Given the description of an element on the screen output the (x, y) to click on. 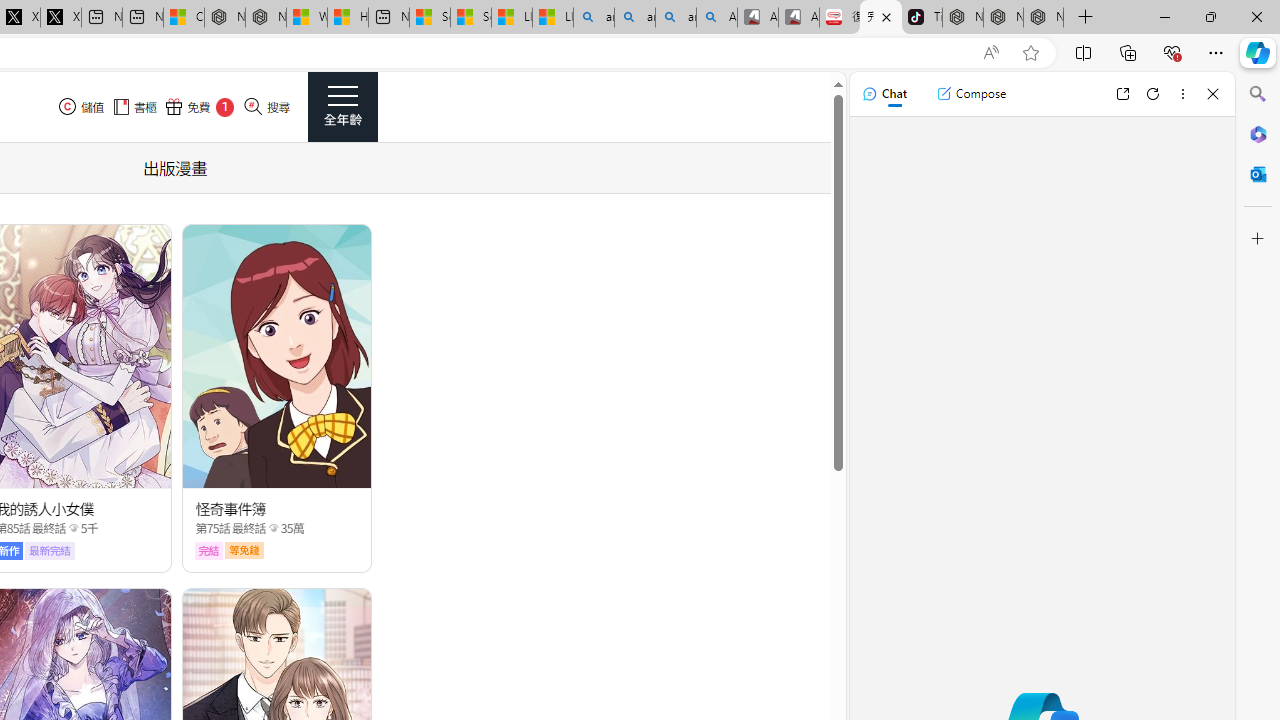
Nordace - Siena Pro 15 Essential Set (1043, 17)
Class: epicon_starpoint (273, 527)
amazon - Search (634, 17)
Nordace Siena Pro 15 Backpack (1003, 17)
Compose (971, 93)
Nordace - Best Sellers (963, 17)
